Given the description of an element on the screen output the (x, y) to click on. 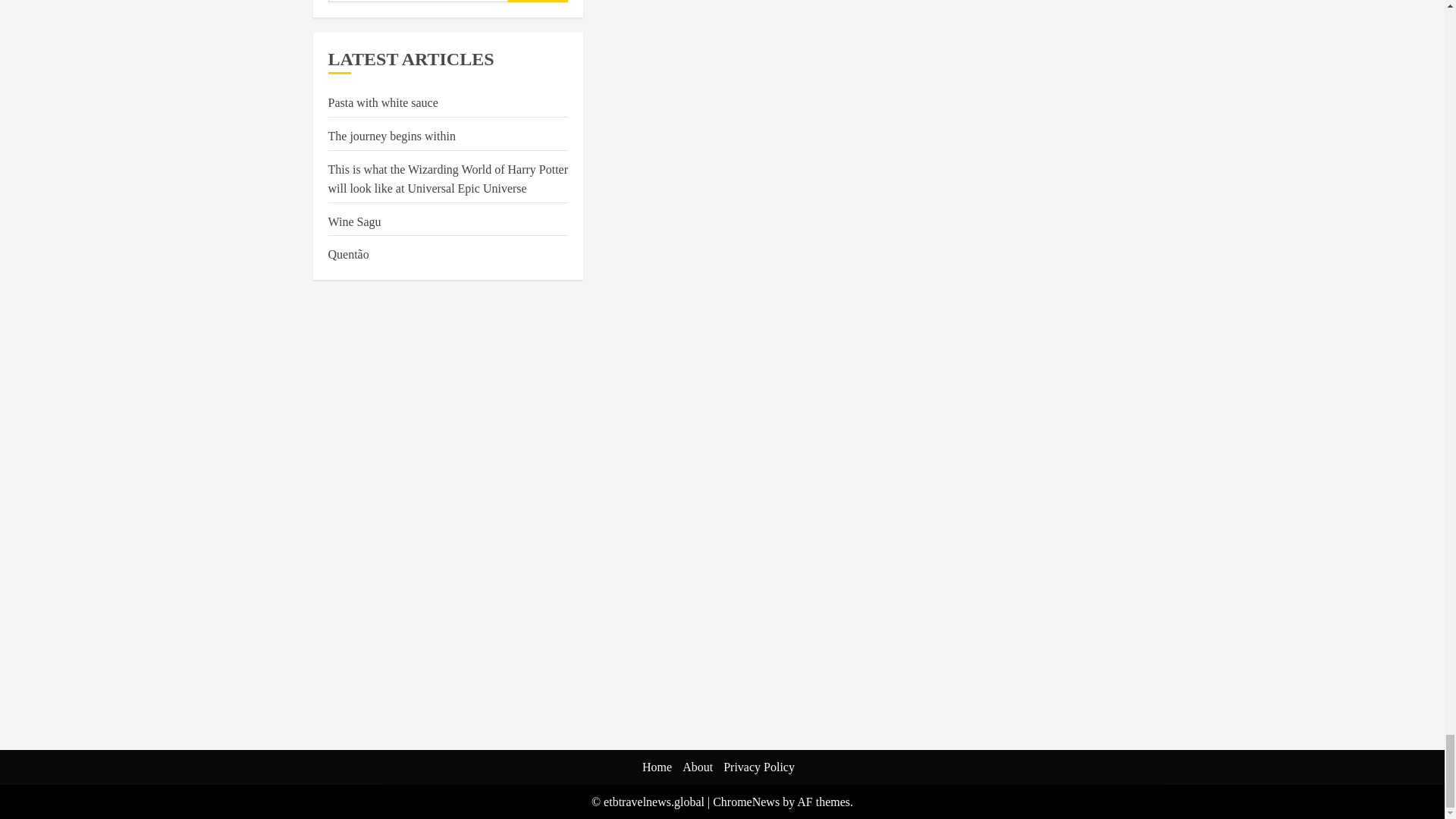
SEARCH (537, 1)
The journey begins within (390, 136)
Privacy Policy (758, 766)
About (697, 766)
Wine Sagu (353, 222)
Pasta with white sauce (382, 102)
ChromeNews (745, 801)
Home (656, 766)
